Given the description of an element on the screen output the (x, y) to click on. 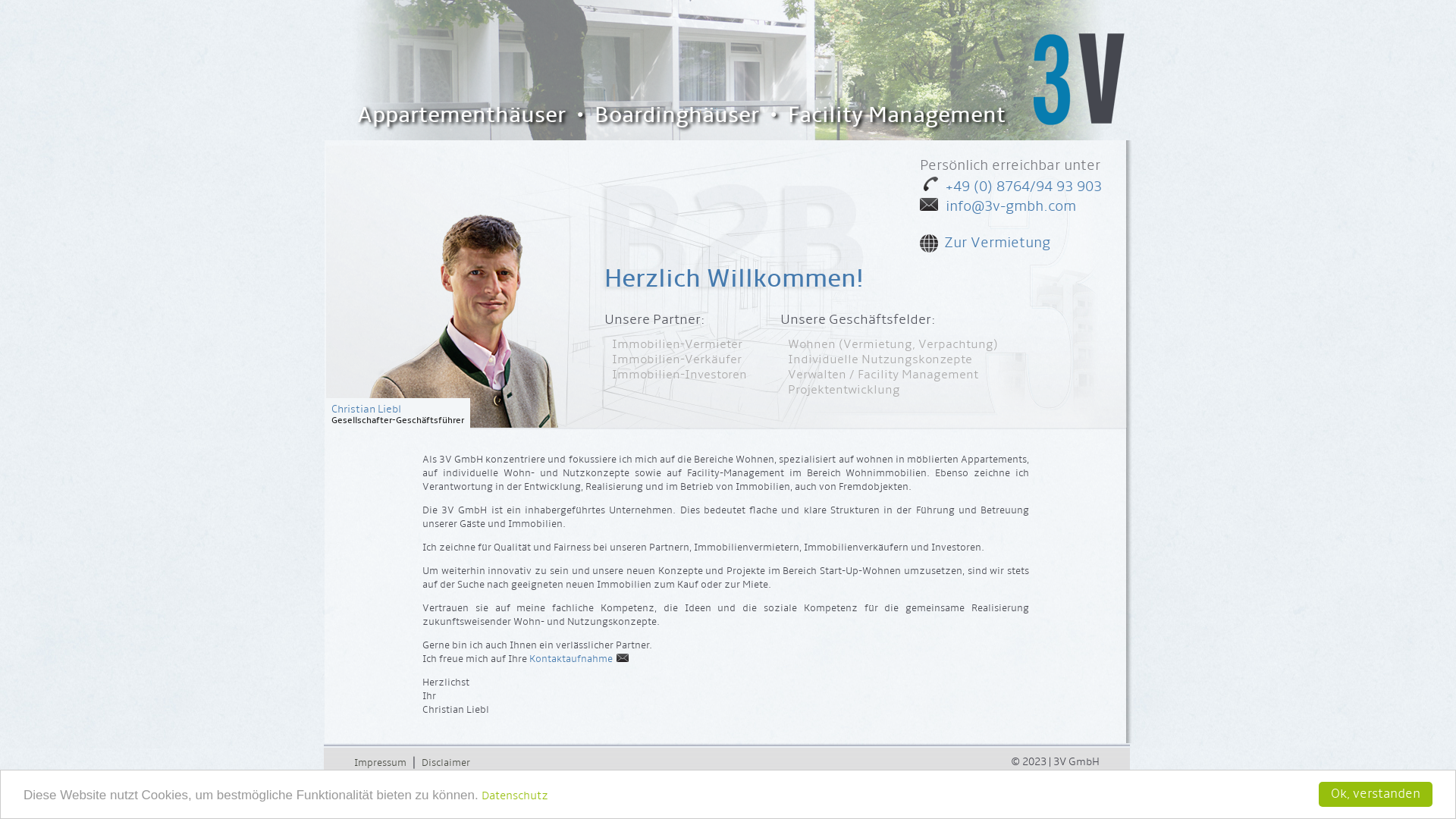
Ok, verstanden Element type: text (1375, 793)
Disclaimer Element type: text (445, 762)
info@3v-gmbh.com Element type: text (997, 205)
Datenschutz Element type: text (514, 795)
Kontaktaufnahme Element type: text (578, 658)
Impressum Element type: text (380, 751)
